Given the description of an element on the screen output the (x, y) to click on. 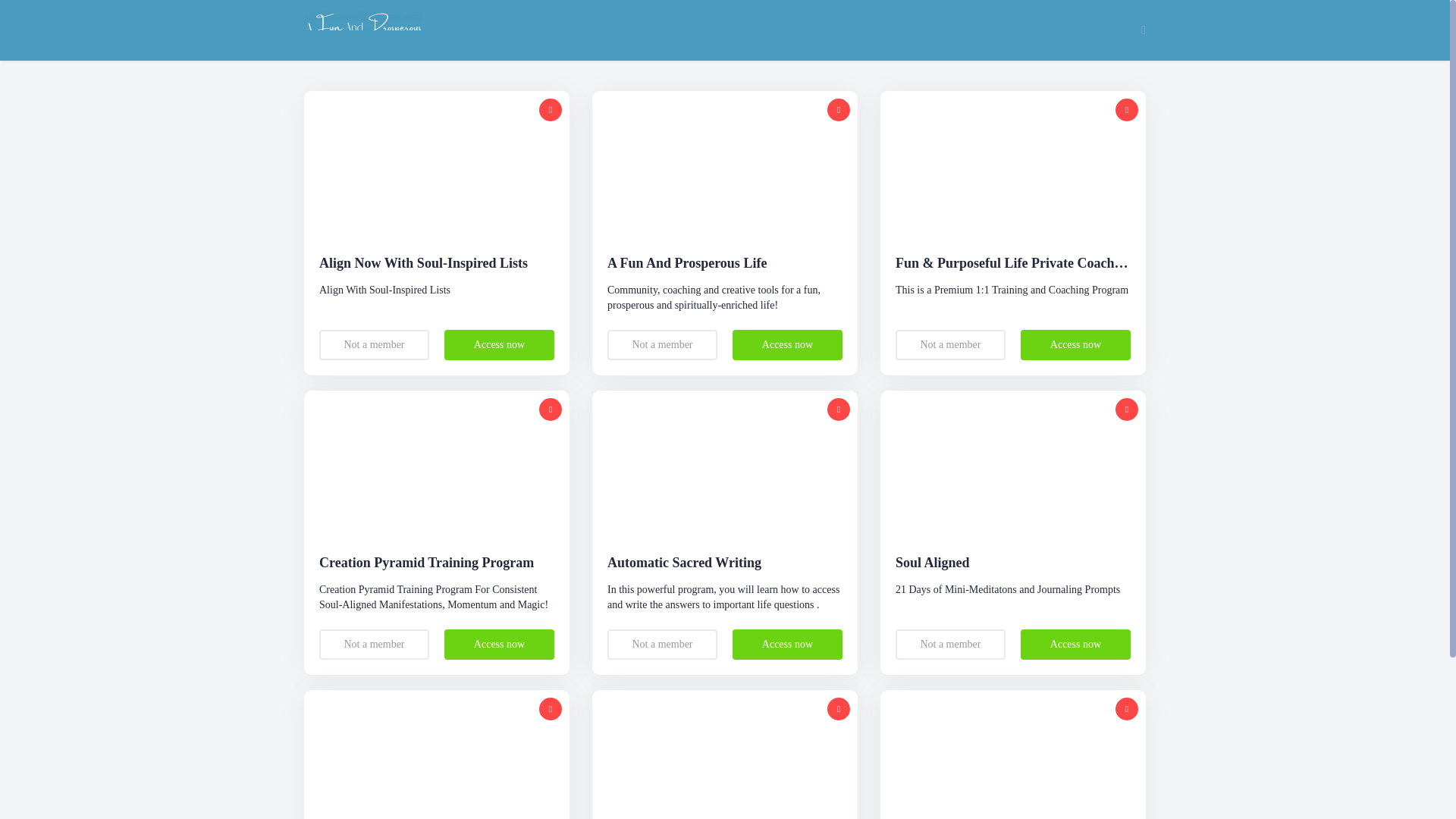
Not a member (373, 644)
Not a member (950, 644)
Access disabled (1126, 708)
Not a member (373, 345)
Access now (1075, 345)
Access disabled (1126, 109)
Access now (499, 644)
Access disabled (838, 708)
Access disabled (550, 109)
Access now (787, 644)
